Given the description of an element on the screen output the (x, y) to click on. 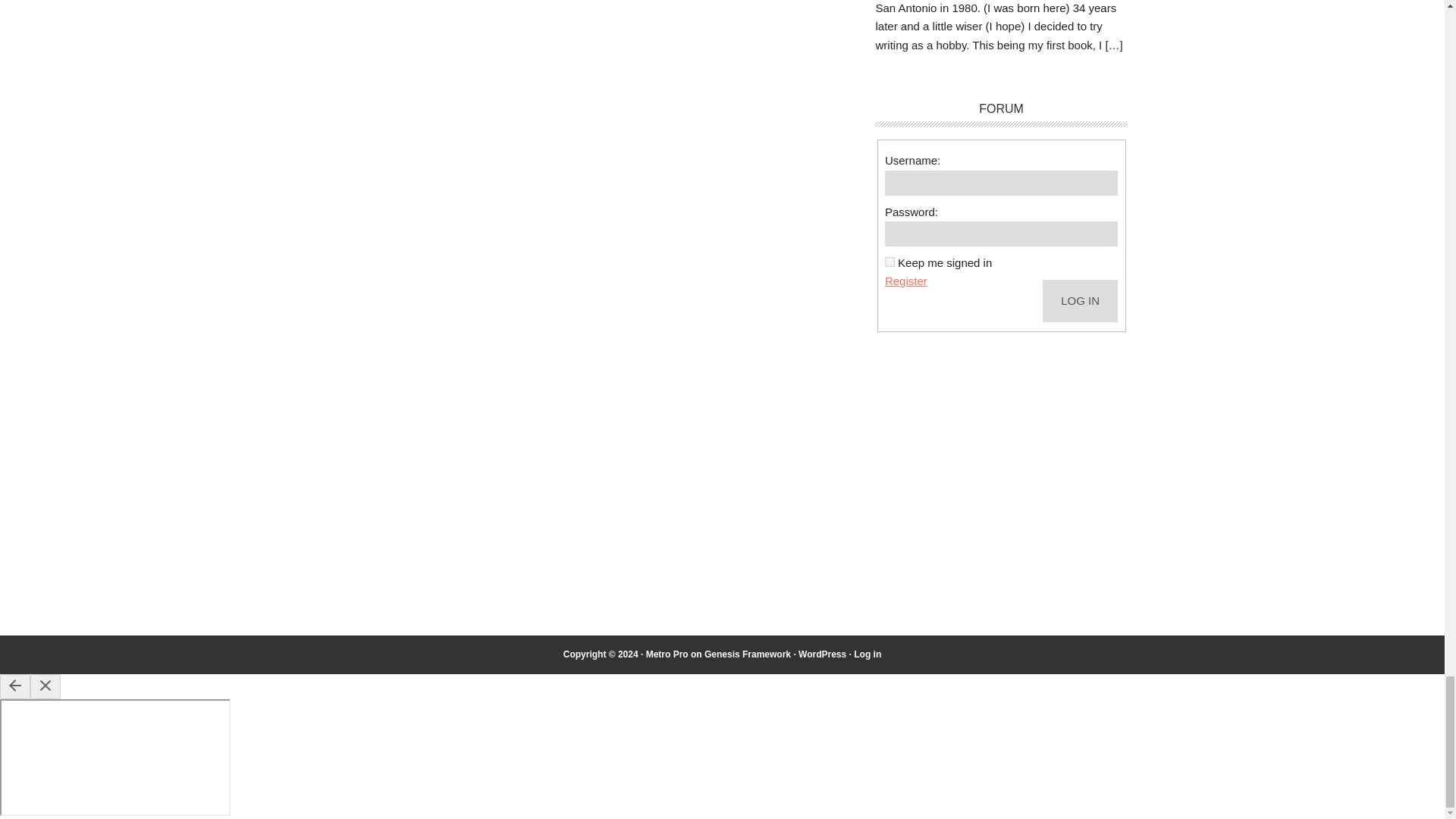
Register (906, 280)
forever (890, 261)
